Given the description of an element on the screen output the (x, y) to click on. 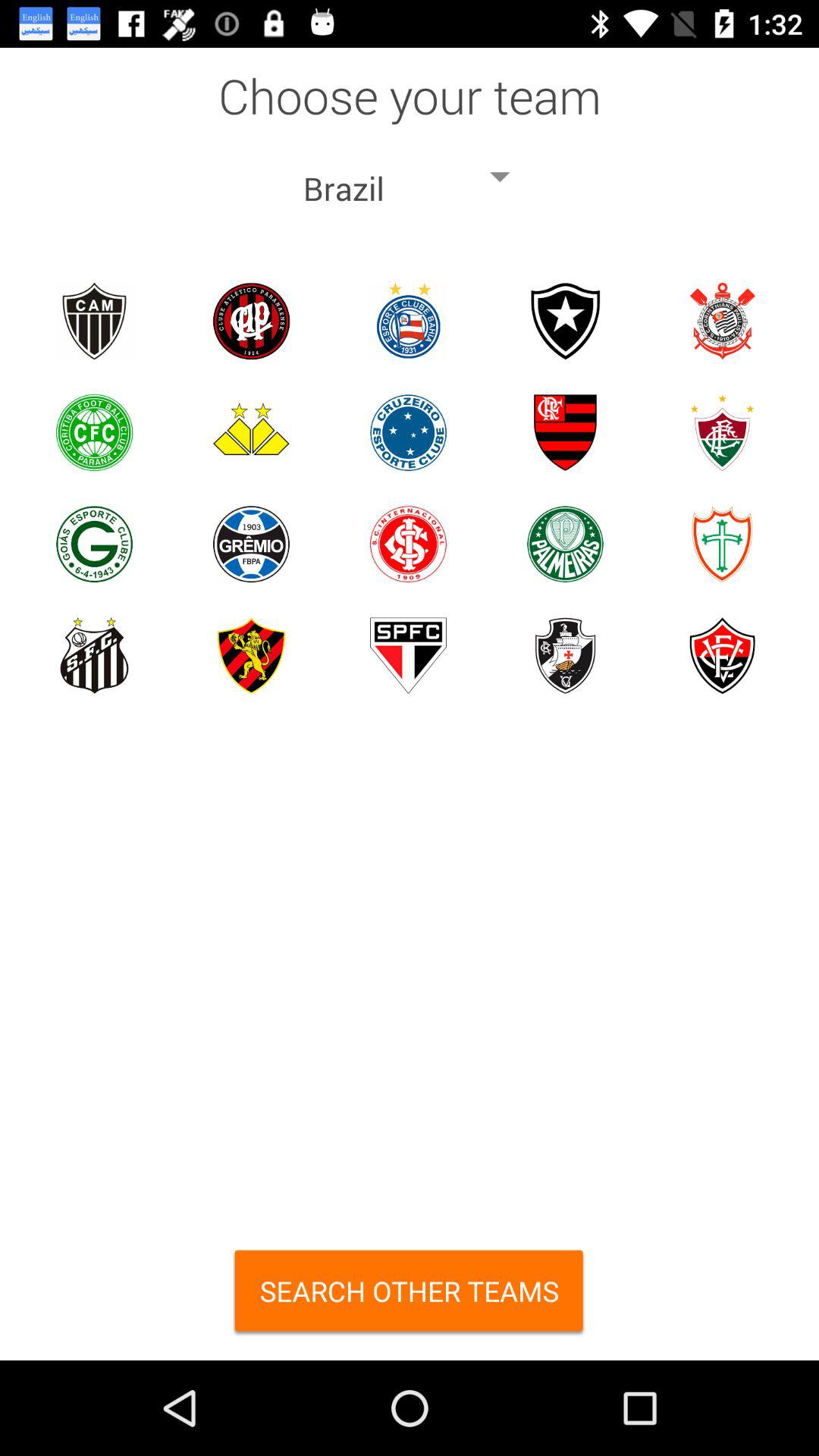
select the user team (94, 544)
